Given the description of an element on the screen output the (x, y) to click on. 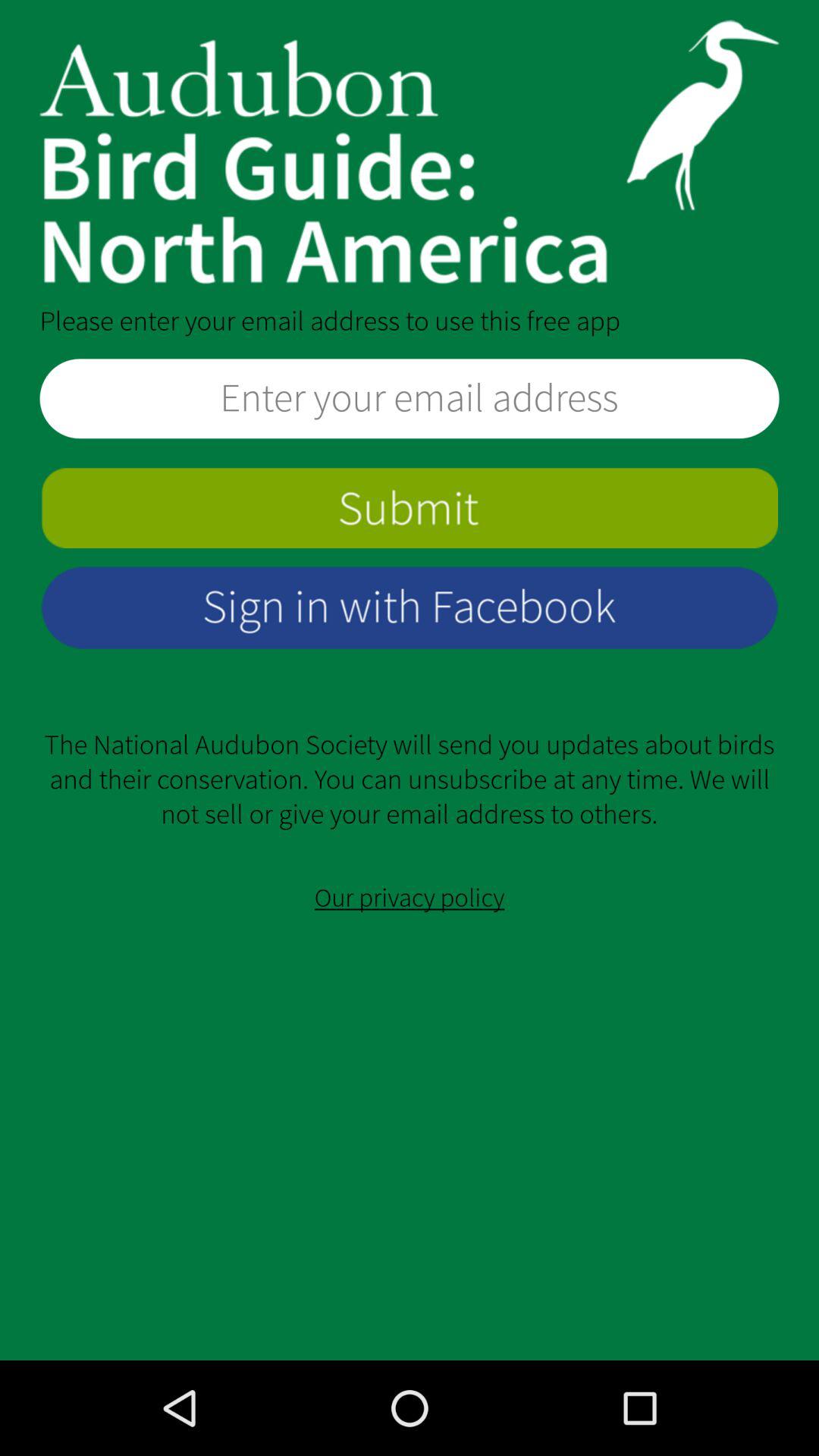
enter your email address (409, 398)
